Given the description of an element on the screen output the (x, y) to click on. 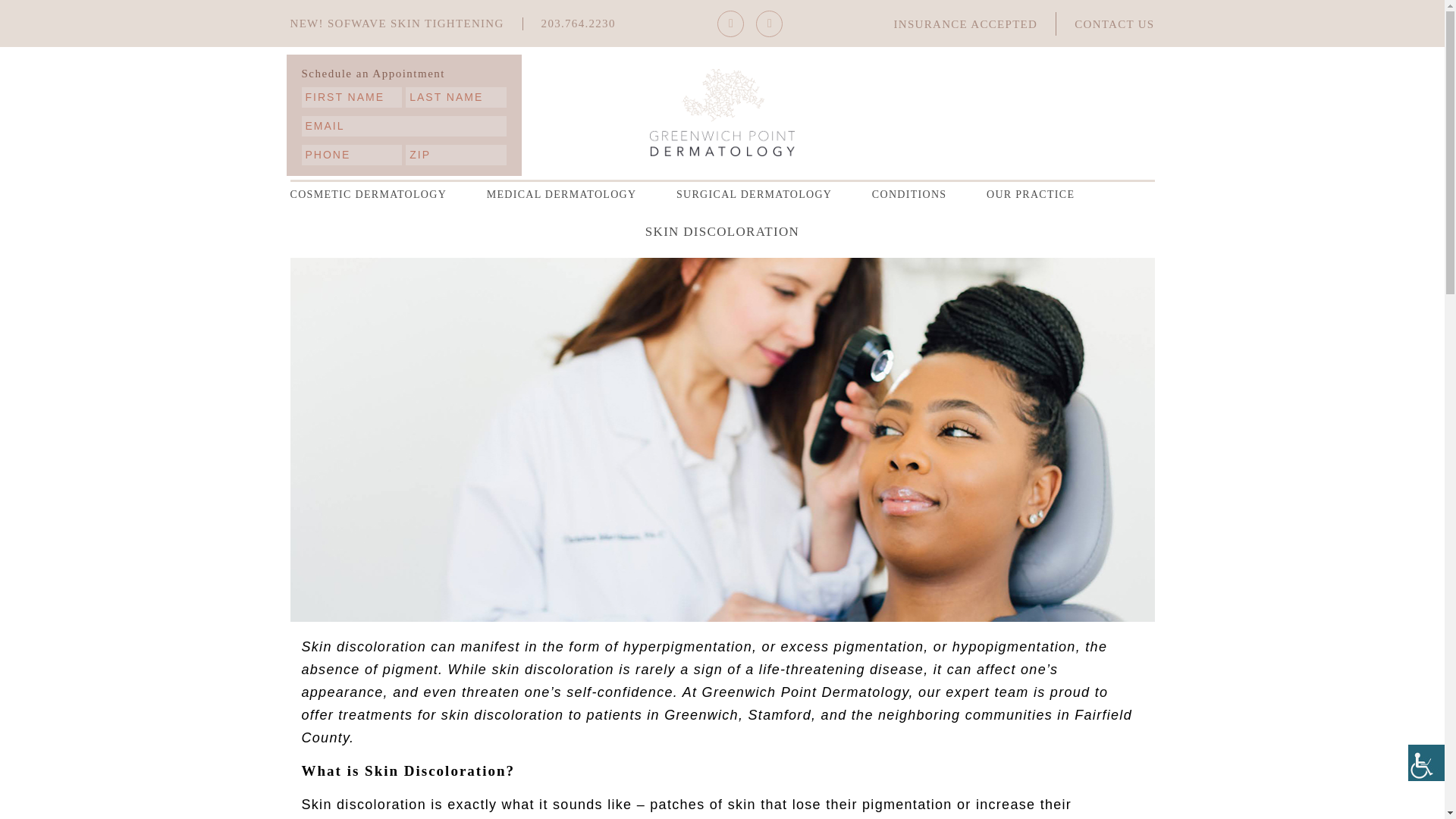
NEW! SOFWAVE SKIN TIGHTENING (396, 22)
203.764.2230 (578, 22)
CONTACT US (1114, 24)
INSURANCE ACCEPTED (965, 24)
